Given the description of an element on the screen output the (x, y) to click on. 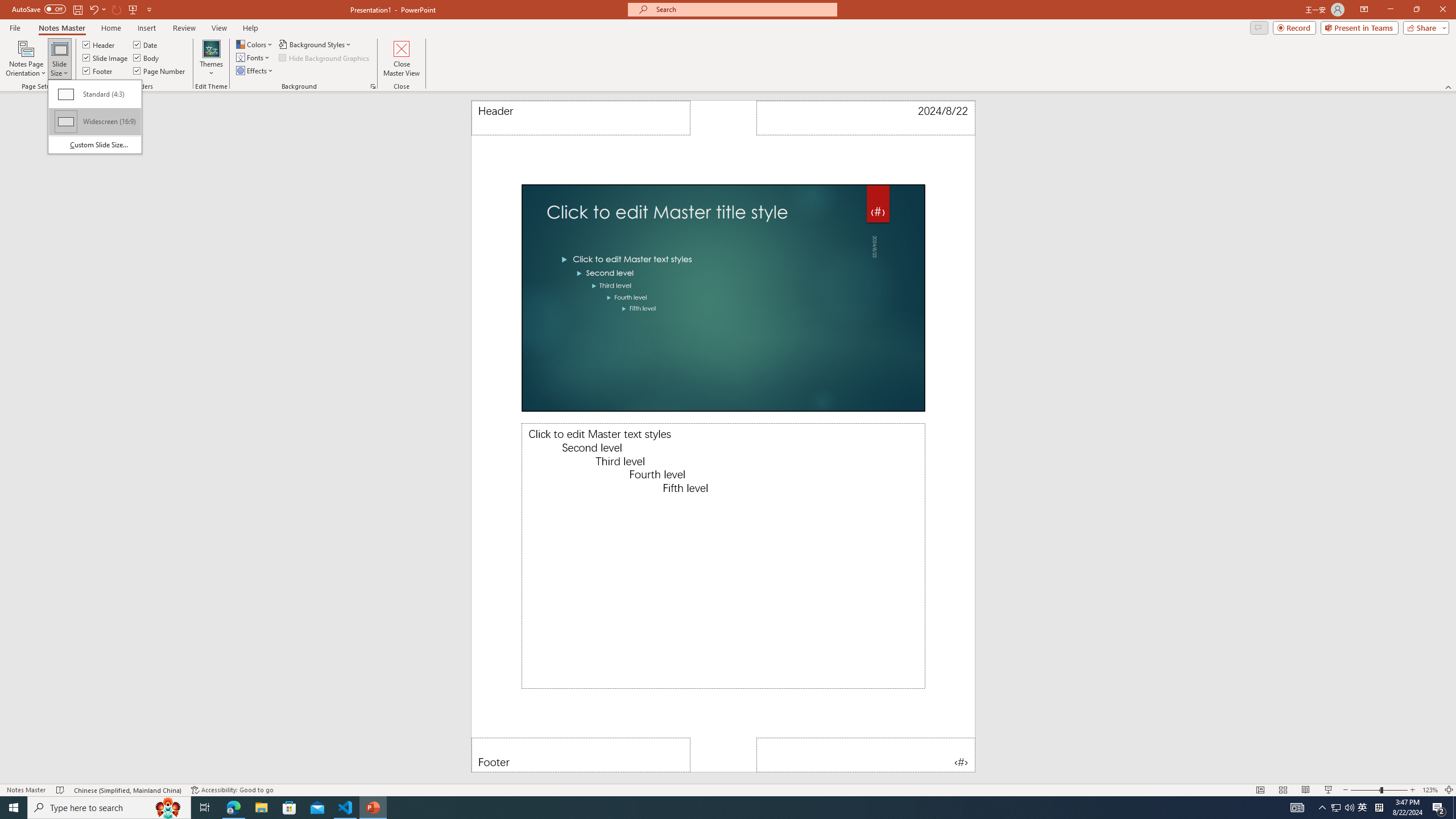
Footer (98, 69)
Notes Page Orientation (26, 58)
Close Master View (400, 58)
Effects (255, 69)
